Given the description of an element on the screen output the (x, y) to click on. 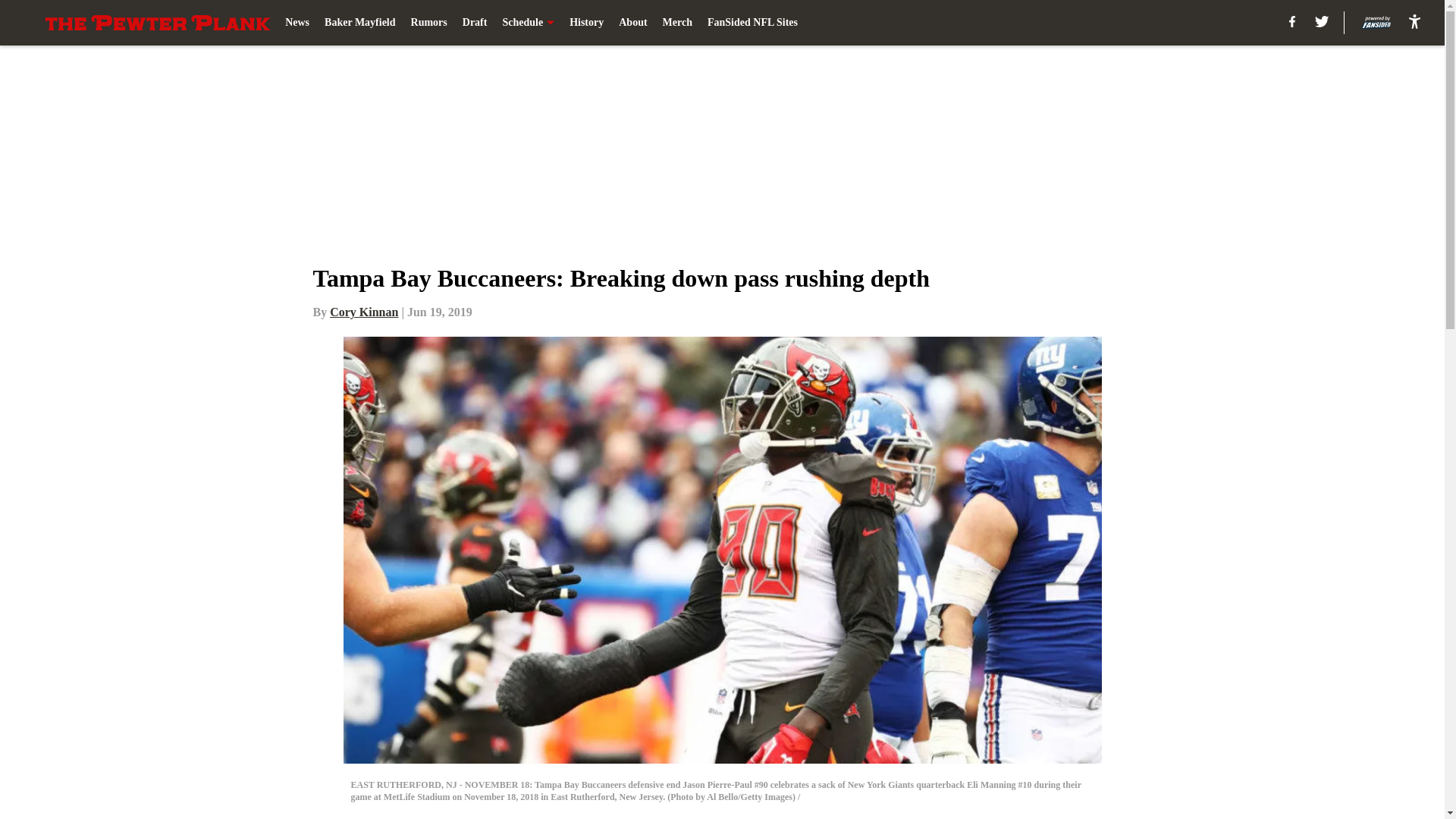
Cory Kinnan (363, 311)
Draft (475, 22)
About (632, 22)
Rumors (428, 22)
Merch (677, 22)
Baker Mayfield (359, 22)
News (296, 22)
History (586, 22)
FanSided NFL Sites (752, 22)
